Given the description of an element on the screen output the (x, y) to click on. 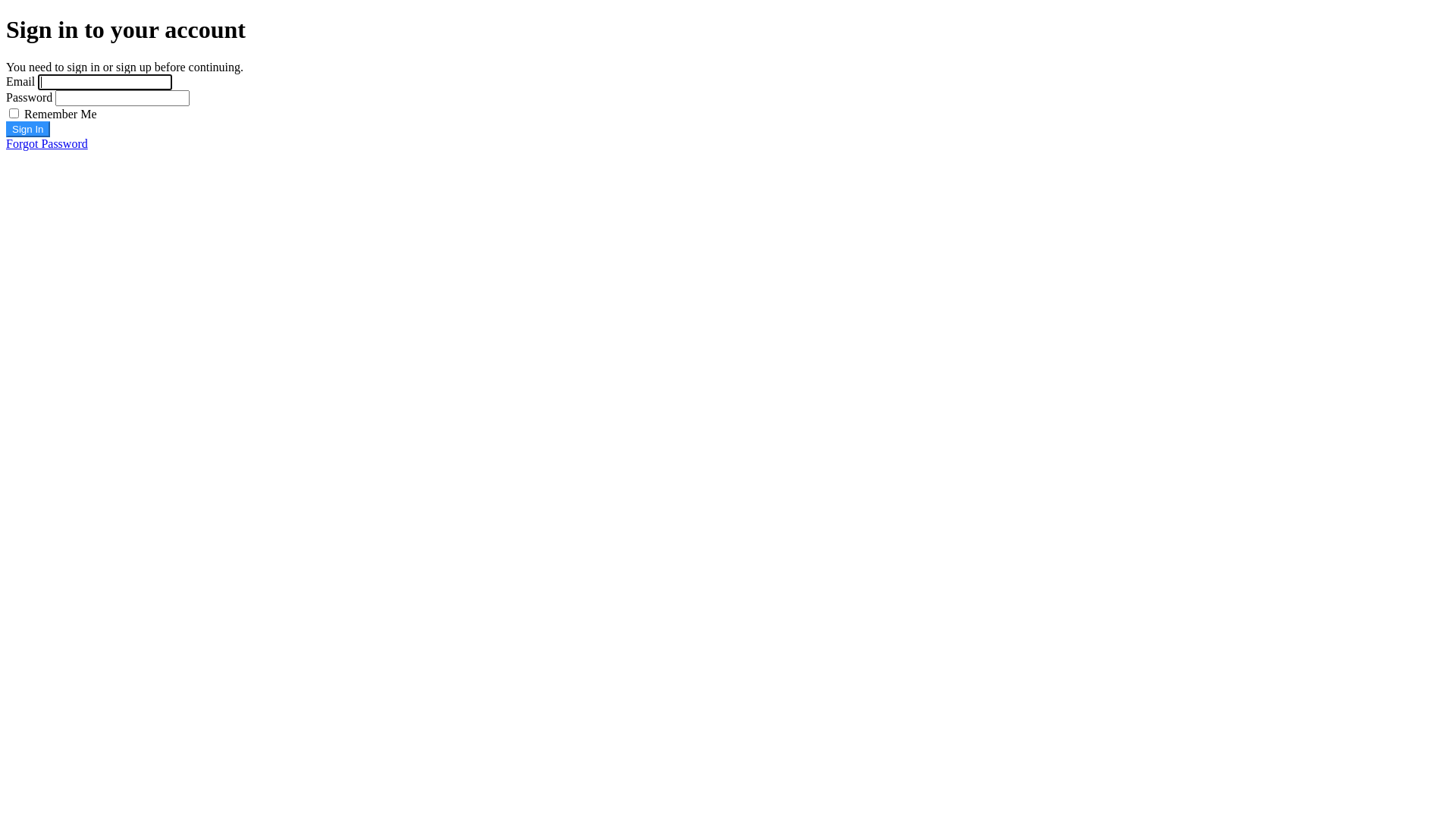
Forgot Password Element type: text (46, 143)
Sign In Element type: text (28, 129)
